Given the description of an element on the screen output the (x, y) to click on. 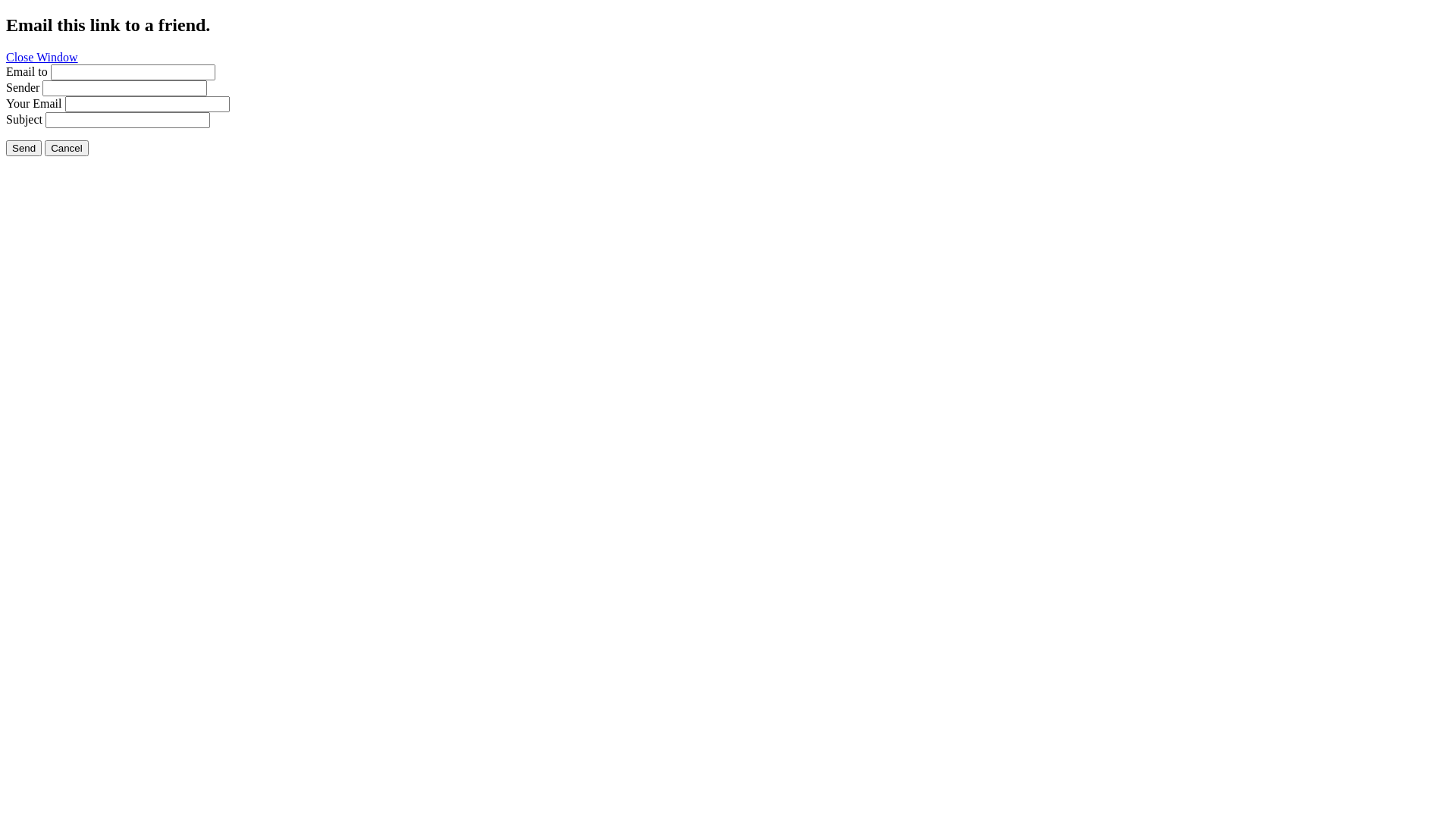
Send Element type: text (23, 148)
Close Window Element type: text (42, 56)
Cancel Element type: text (66, 148)
